Given the description of an element on the screen output the (x, y) to click on. 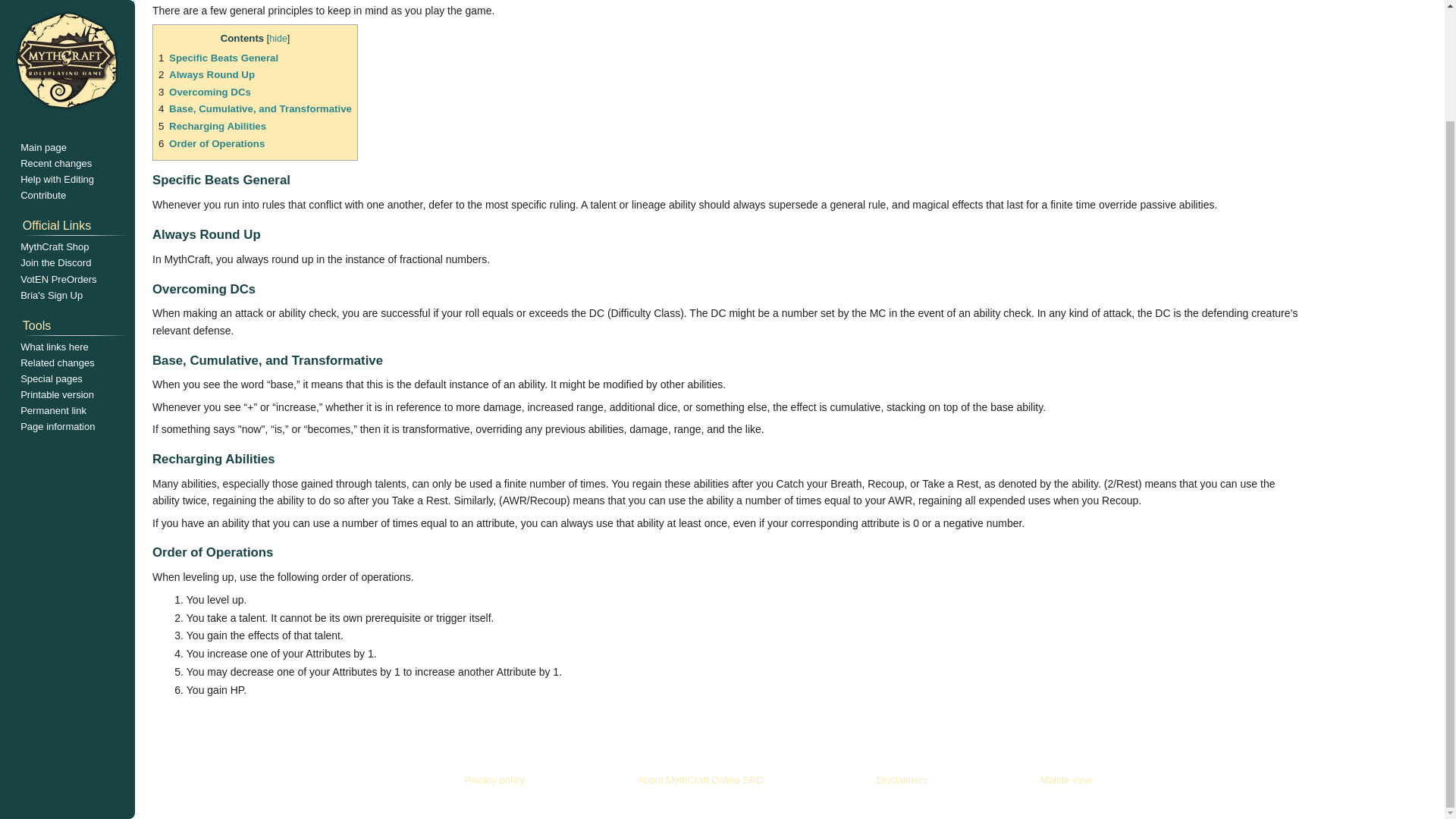
Bria's Sign Up (51, 163)
What links here (54, 215)
Related changes (57, 231)
3 Overcoming DCs (204, 91)
MythCraft Shop (54, 115)
Permanent link (52, 279)
Contribute (42, 63)
1 Specific Beats General (218, 57)
Recent changes (55, 31)
